Given the description of an element on the screen output the (x, y) to click on. 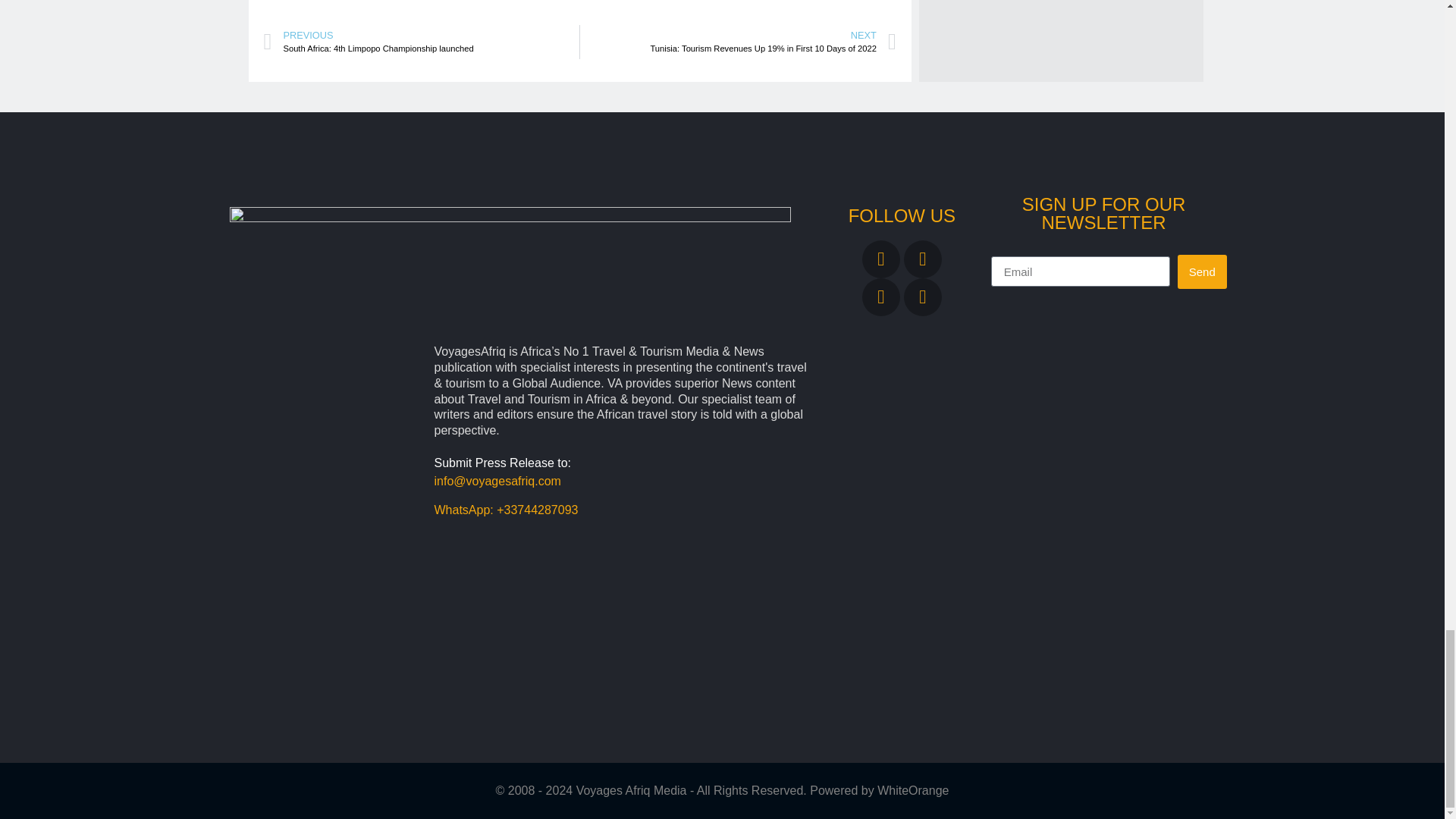
White Orange Technologies (913, 789)
